Given the description of an element on the screen output the (x, y) to click on. 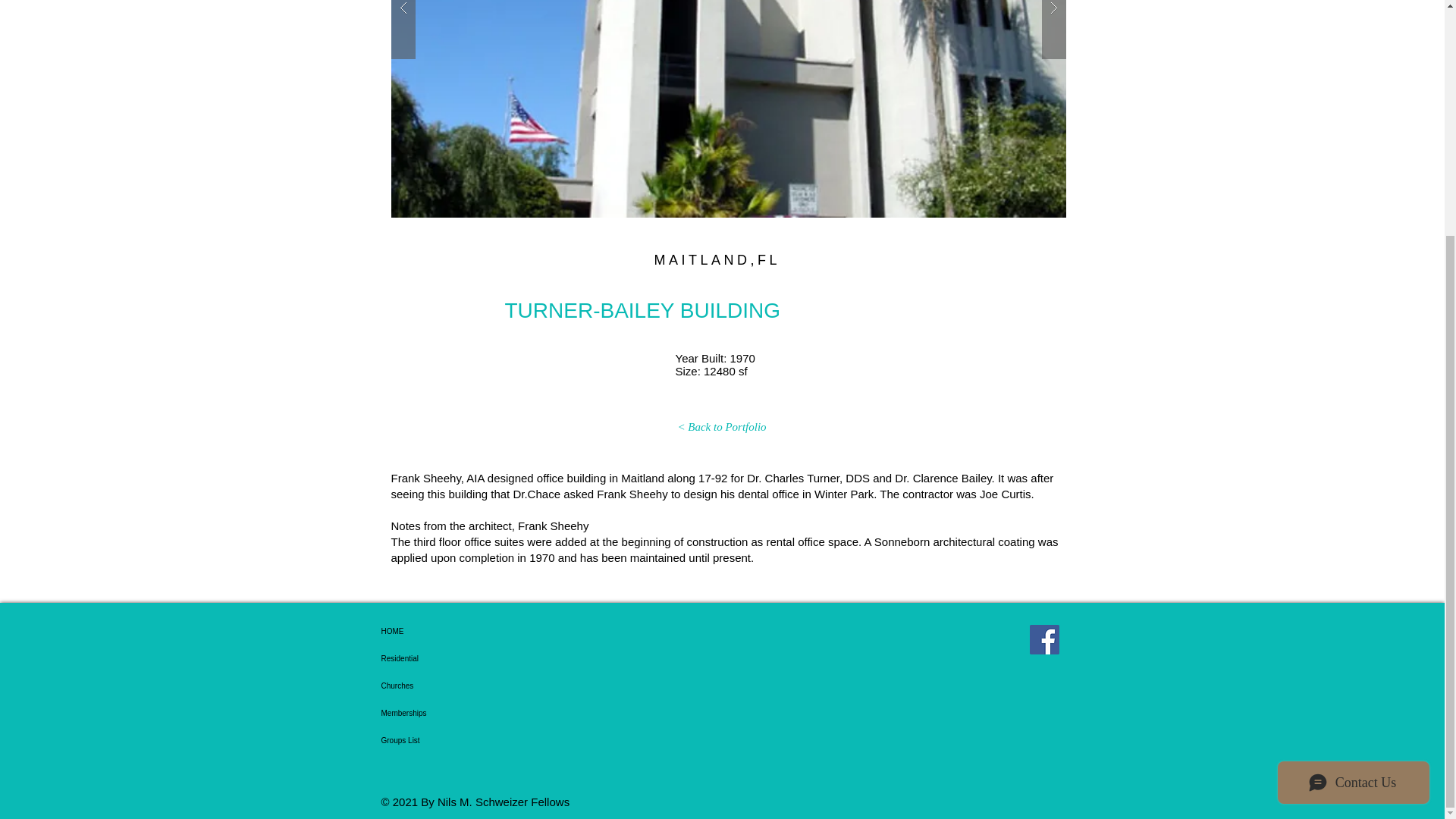
Residential (445, 658)
Churches (445, 686)
HOME (445, 631)
Memberships (445, 713)
Groups List (445, 740)
